Given the description of an element on the screen output the (x, y) to click on. 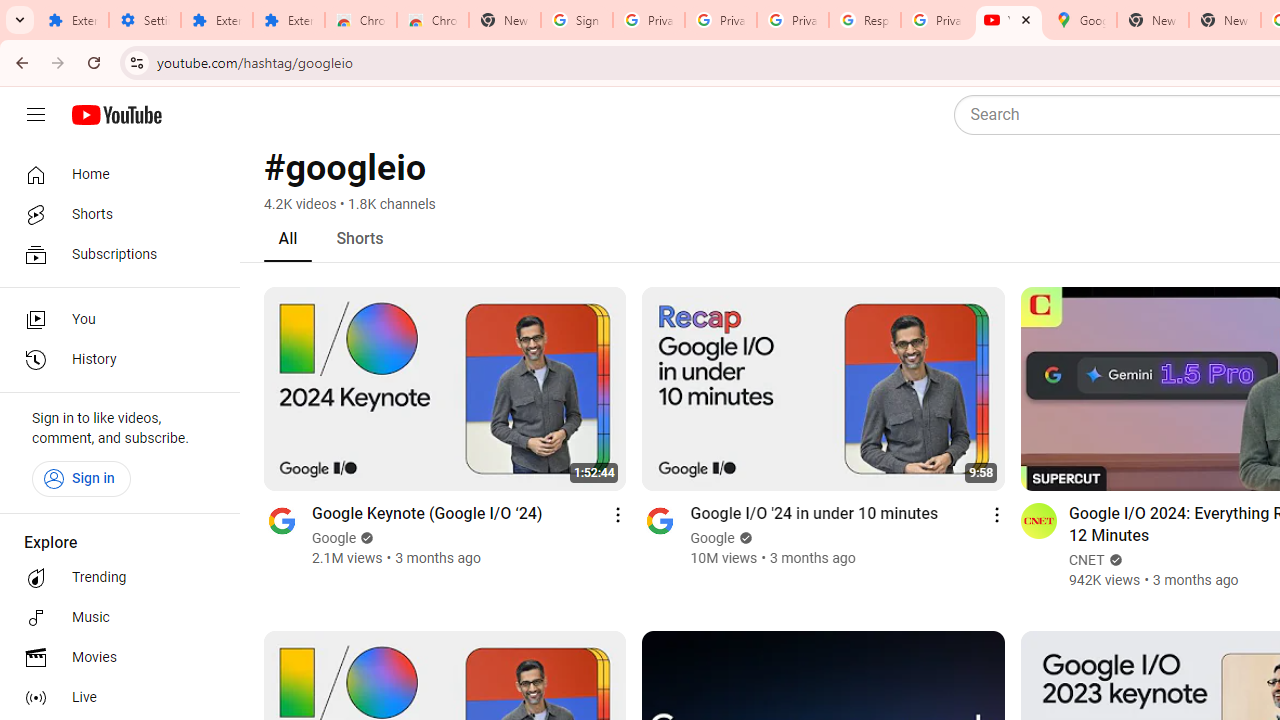
Extensions (72, 20)
Trending (113, 578)
New Tab (504, 20)
Extensions (289, 20)
Shorts (113, 214)
YouTube Home (116, 115)
Movies (113, 657)
Guide (35, 115)
Chrome Web Store - Themes (432, 20)
YouTube (1008, 20)
Home (113, 174)
Extensions (216, 20)
